Given the description of an element on the screen output the (x, y) to click on. 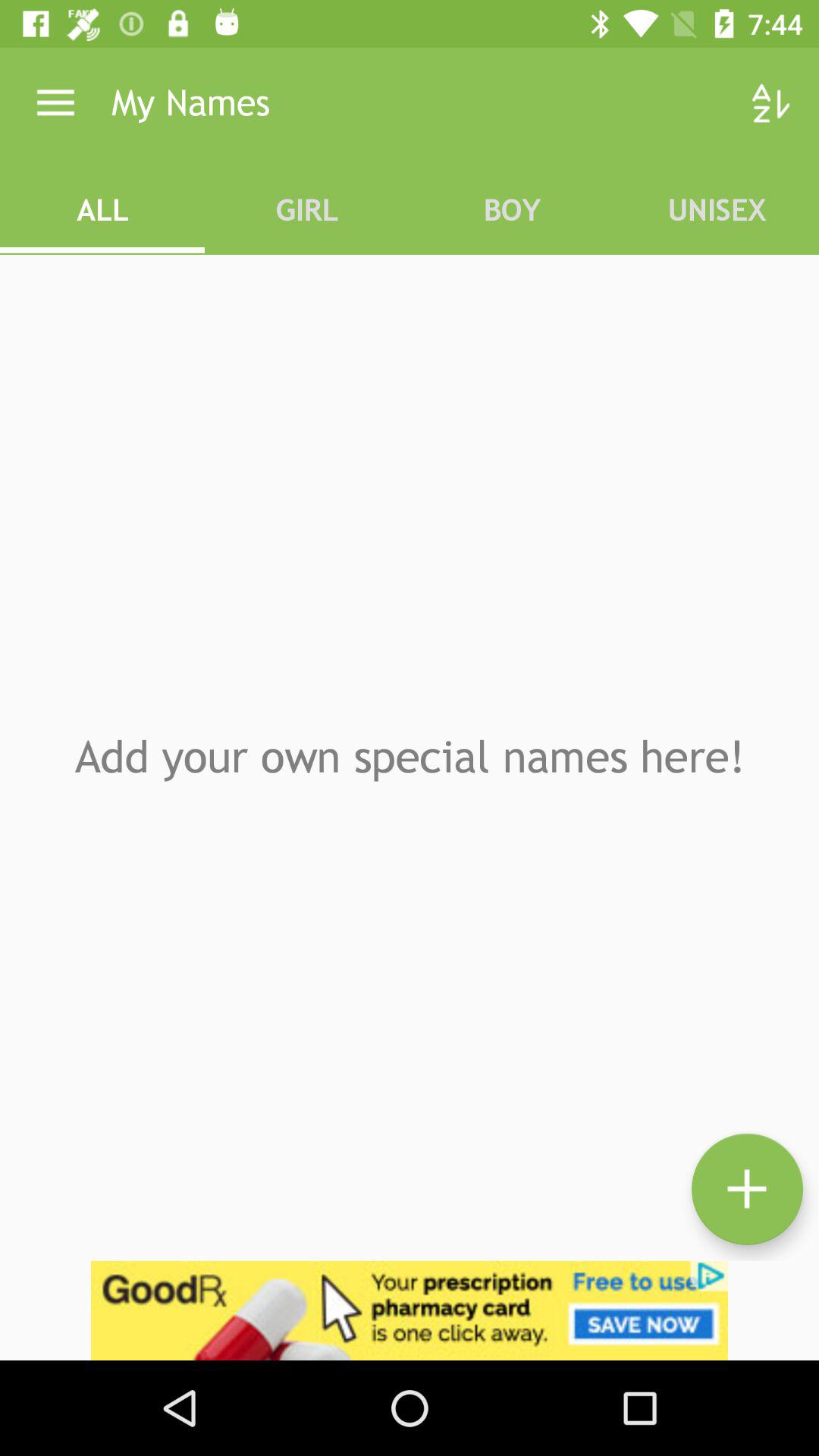
mores (747, 1188)
